Given the description of an element on the screen output the (x, y) to click on. 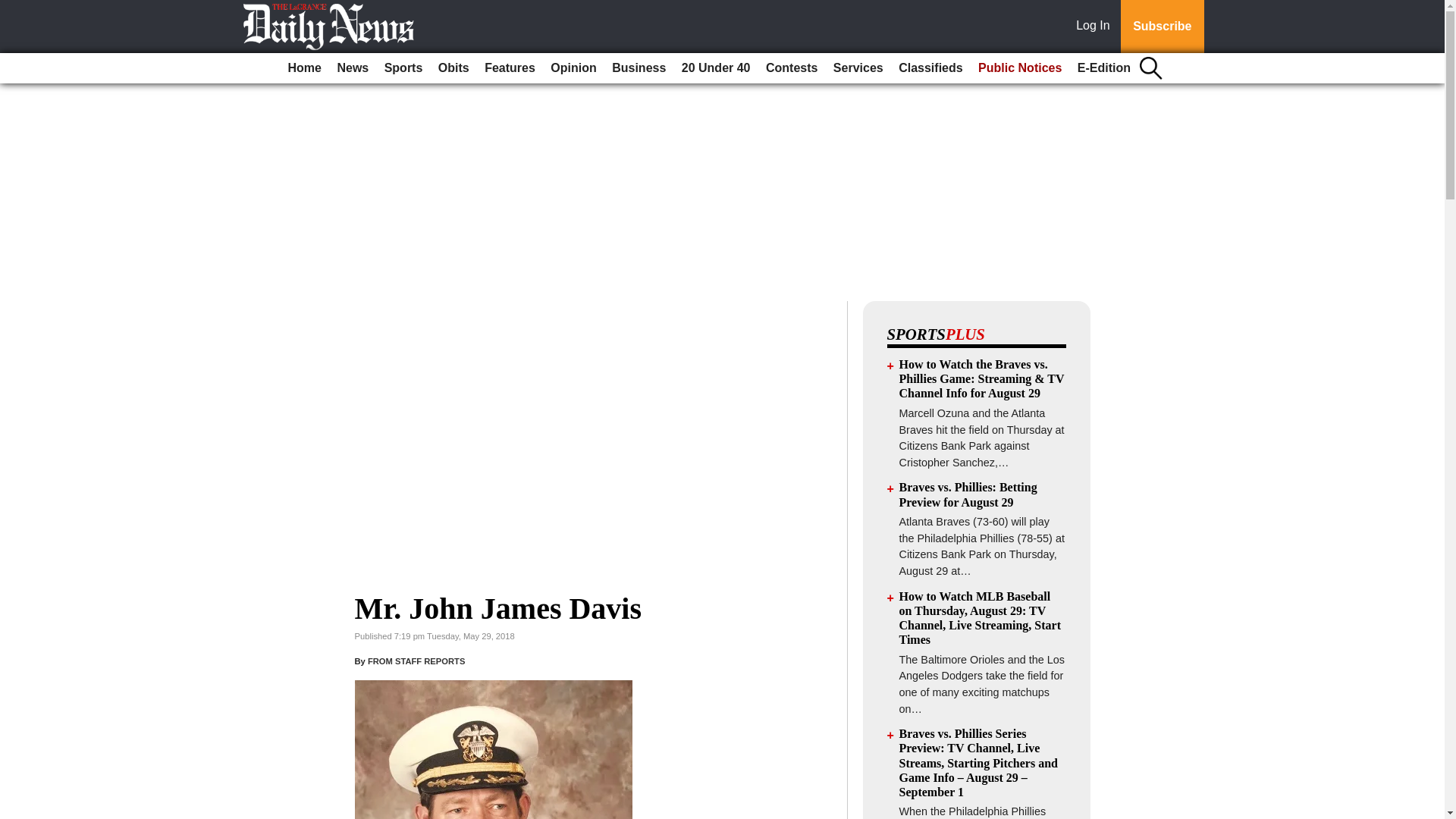
Features (510, 68)
News (352, 68)
Classifieds (930, 68)
Subscribe (1162, 26)
Sports (403, 68)
Obits (454, 68)
20 Under 40 (716, 68)
Services (858, 68)
Opinion (573, 68)
